Given the description of an element on the screen output the (x, y) to click on. 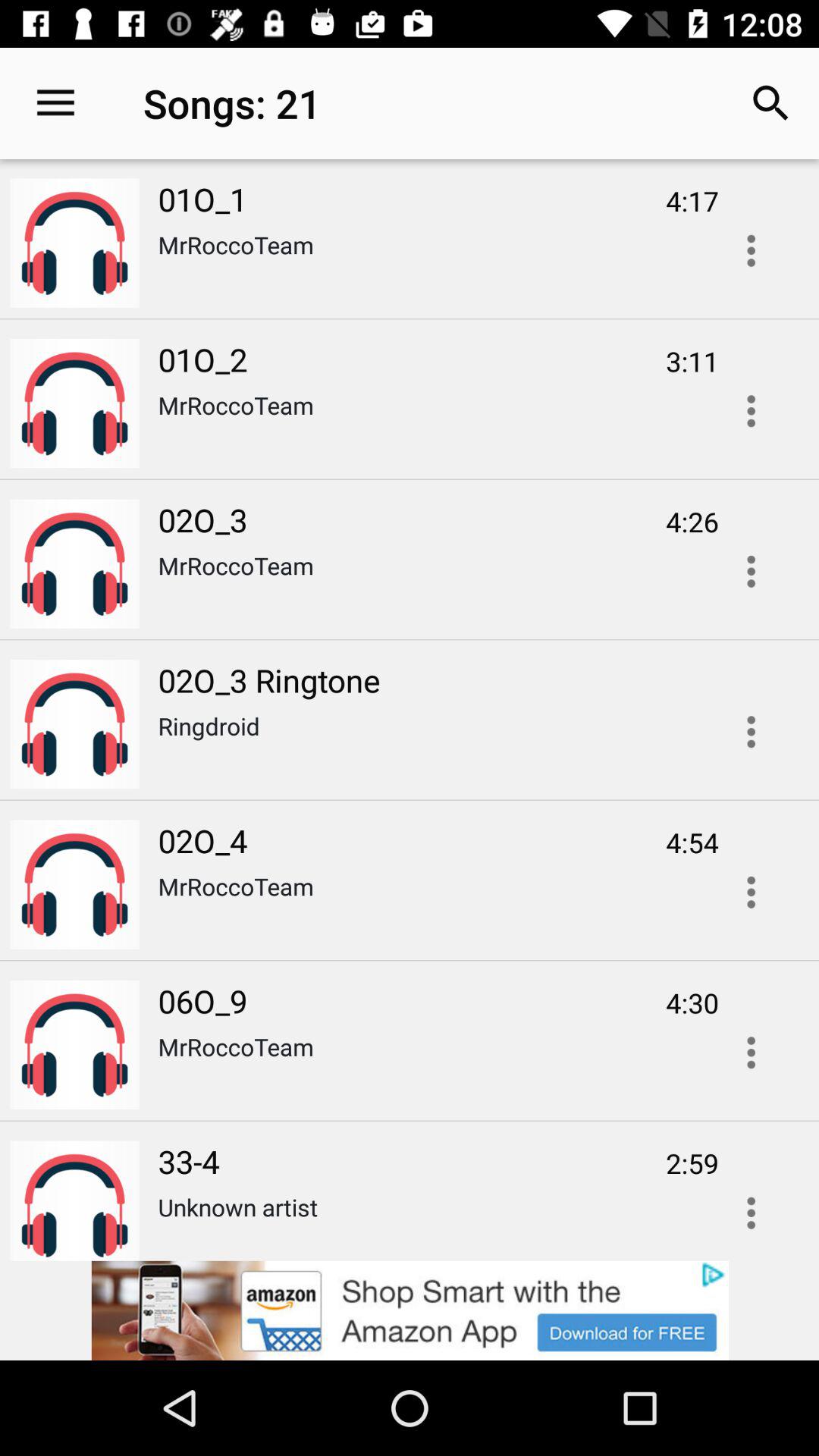
open advertisement (750, 250)
